Given the description of an element on the screen output the (x, y) to click on. 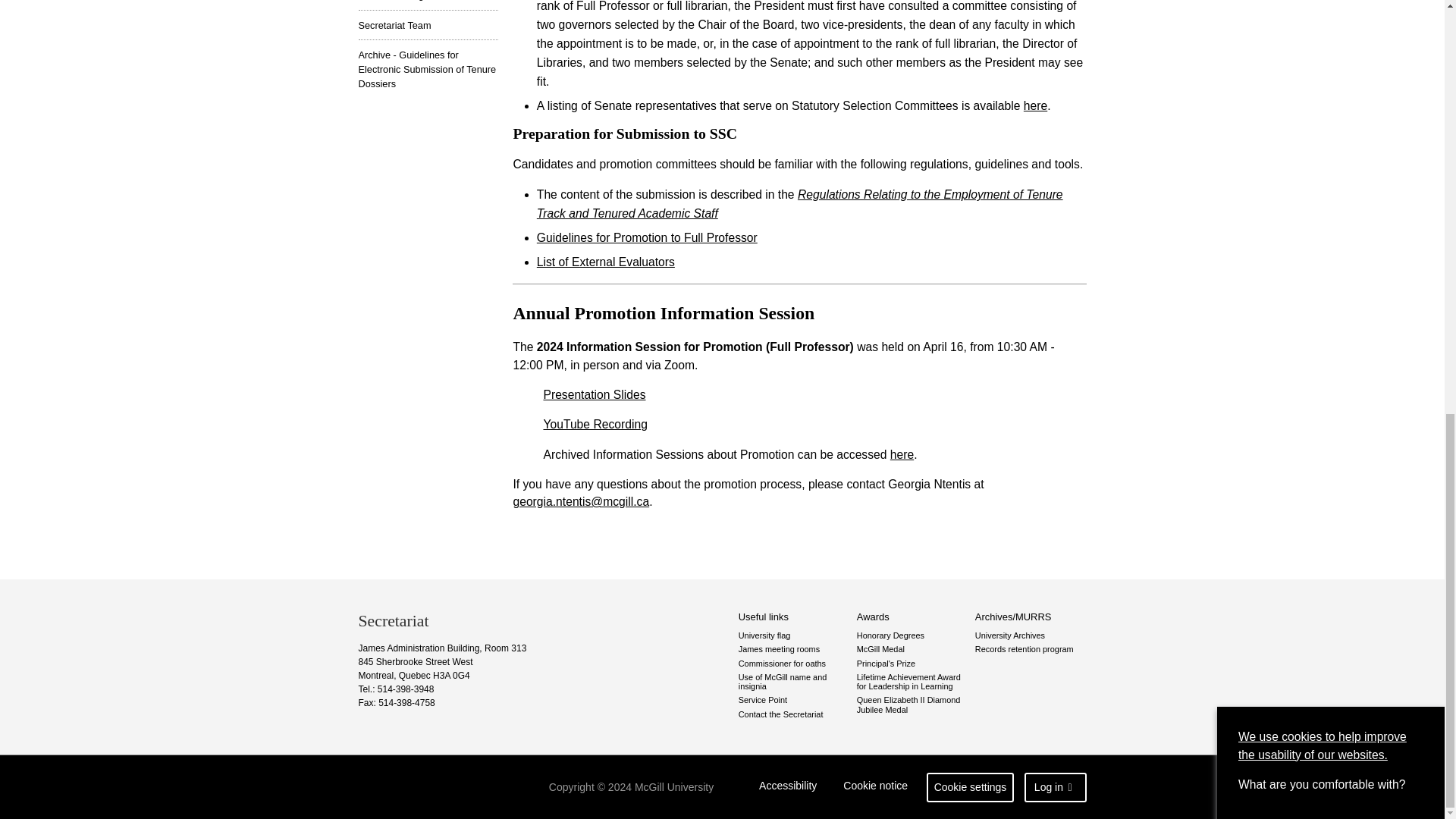
Guidelines for Promotion to Full Professor (647, 237)
return to McGill University (417, 786)
Presentation Slides (594, 394)
James Meeting Rooms (427, 4)
marketing (1243, 93)
Secretariat Team (427, 24)
List of External Evaluators (606, 261)
here (1034, 105)
